Given the description of an element on the screen output the (x, y) to click on. 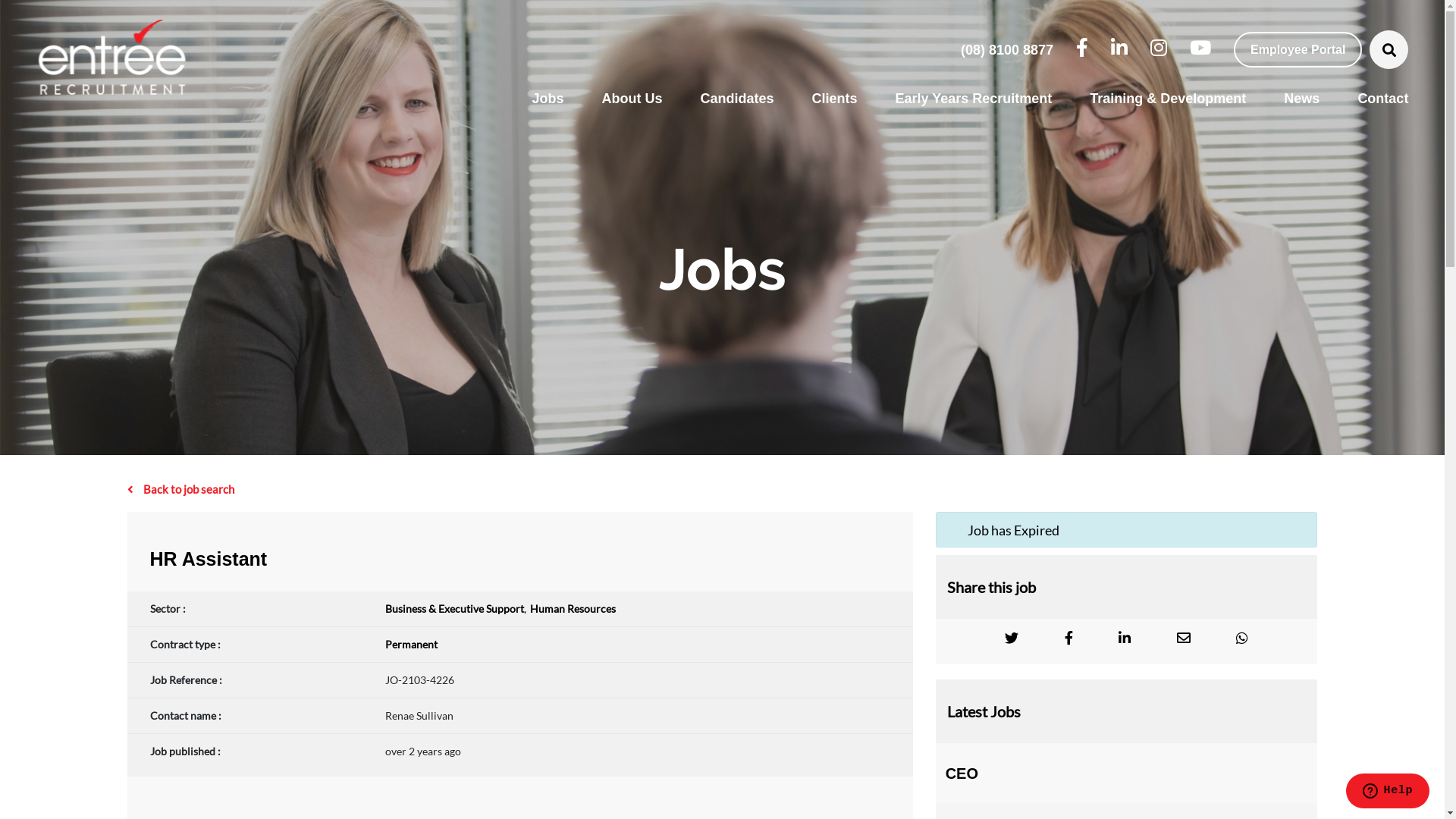
Facebook Element type: hover (1068, 637)
Candidates Element type: text (736, 98)
News Element type: text (1301, 98)
Opens a widget where you can chat to one of our agents Element type: hover (1387, 792)
Human Resources Element type: text (572, 608)
Business & Executive Support Element type: text (454, 608)
Back to job search Element type: text (722, 488)
About Us Element type: text (631, 98)
(08) 8100 8877 Element type: text (1006, 48)
LinkedIn Element type: hover (1124, 637)
Employee Portal Element type: text (1297, 49)
Permanent Element type: text (411, 643)
Contact Element type: text (1373, 98)
CEO Element type: text (1126, 773)
Email Element type: hover (1183, 637)
Training & Development Element type: text (1167, 98)
Clients Element type: text (834, 98)
Early Years Recruitment Element type: text (973, 98)
Jobs Element type: text (547, 98)
Twitter Element type: hover (1011, 637)
